Given the description of an element on the screen output the (x, y) to click on. 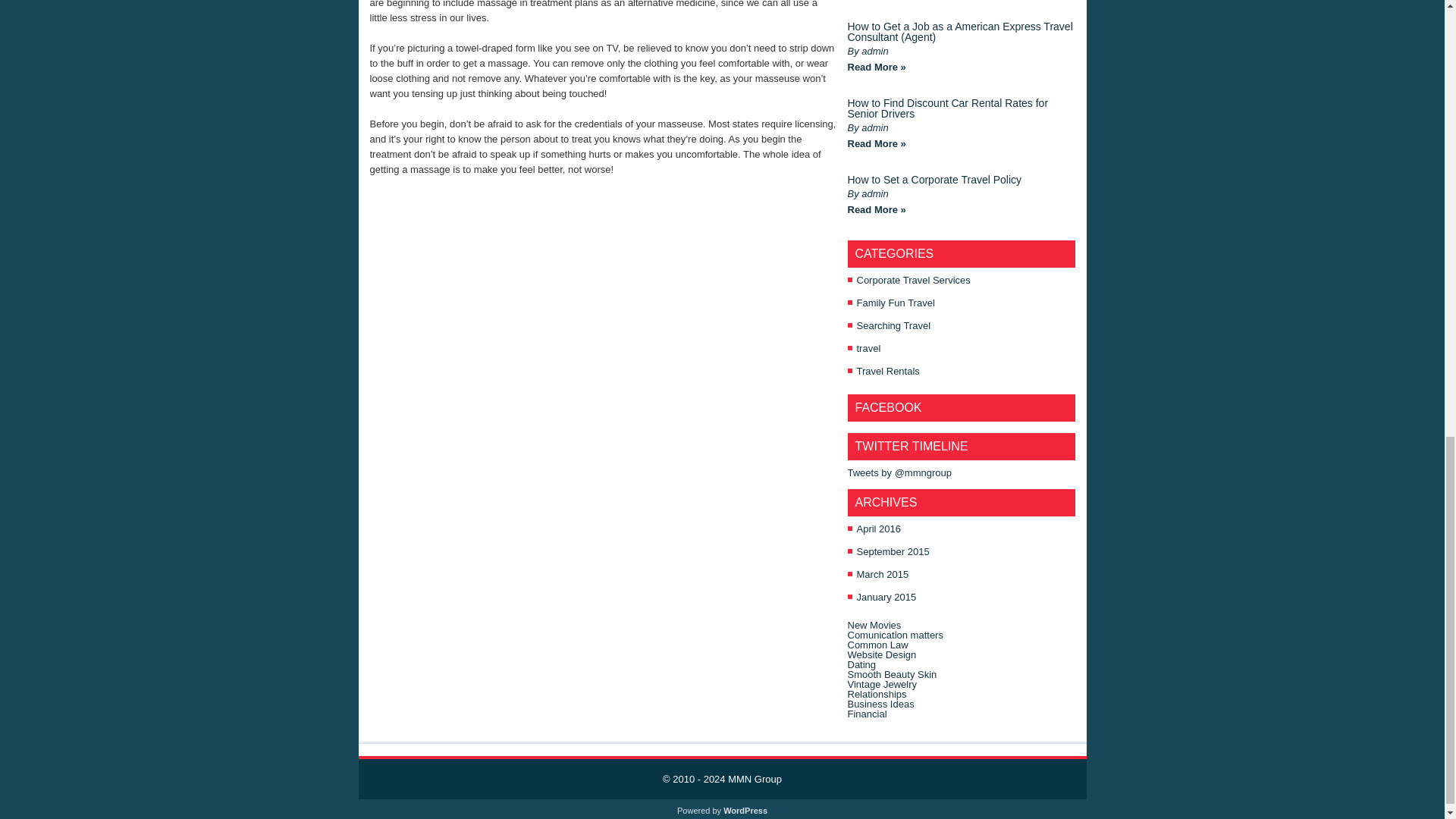
Family Fun Travel (895, 302)
Searching Travel (894, 325)
How to Set a Corporate Travel Policy (934, 179)
September 2015 (893, 551)
How to Find Discount Car Rental Rates for Senior Drivers (947, 108)
travel (868, 348)
Corporate Travel Services (914, 279)
April 2016 (879, 528)
March 2015 (882, 573)
Travel Rentals (888, 370)
